Given the description of an element on the screen output the (x, y) to click on. 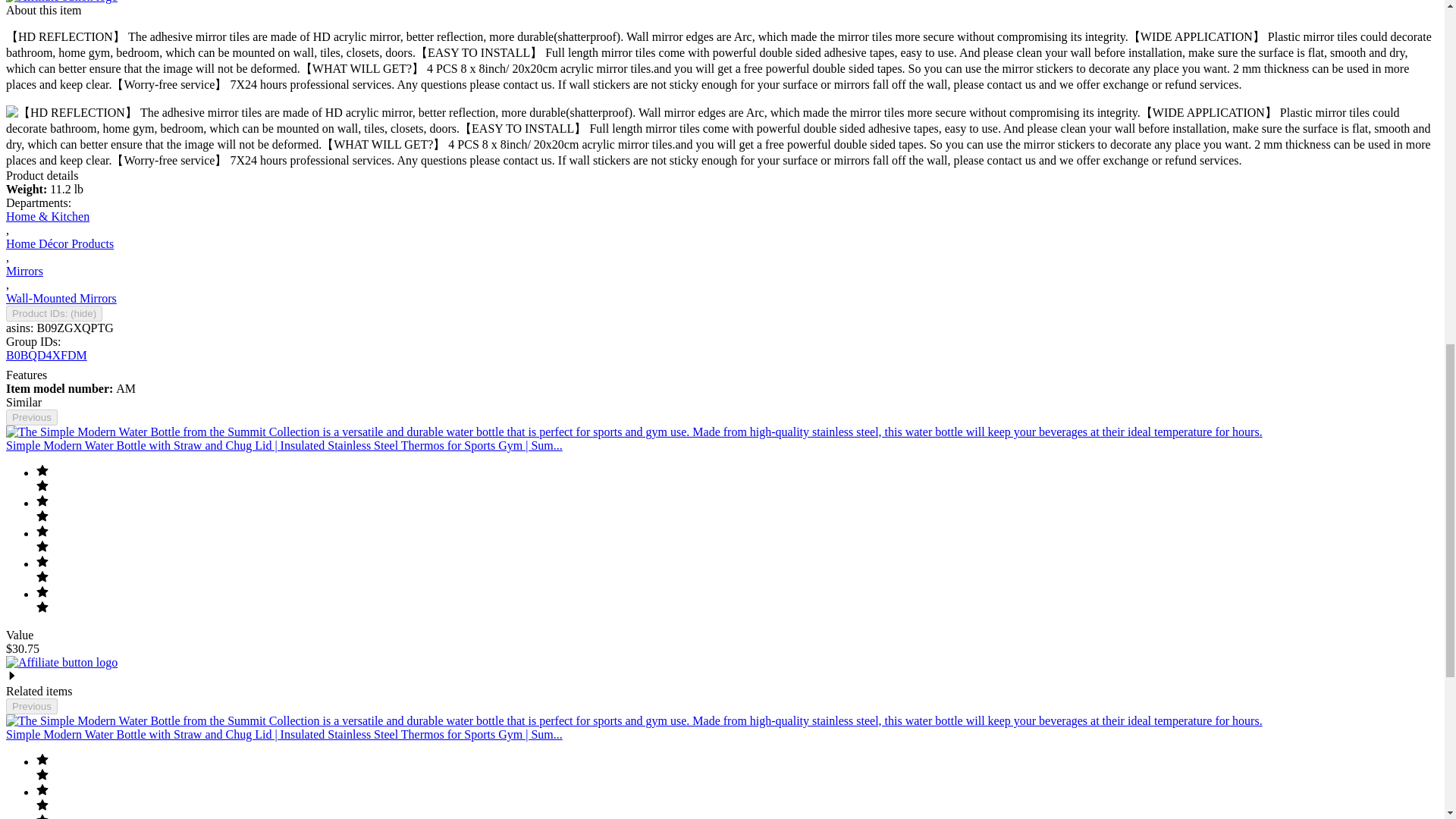
Wall-Mounted Mirrors (60, 297)
Previous (31, 706)
Previous (31, 417)
Mirrors (24, 270)
B0BQD4XFDM (46, 354)
